Given the description of an element on the screen output the (x, y) to click on. 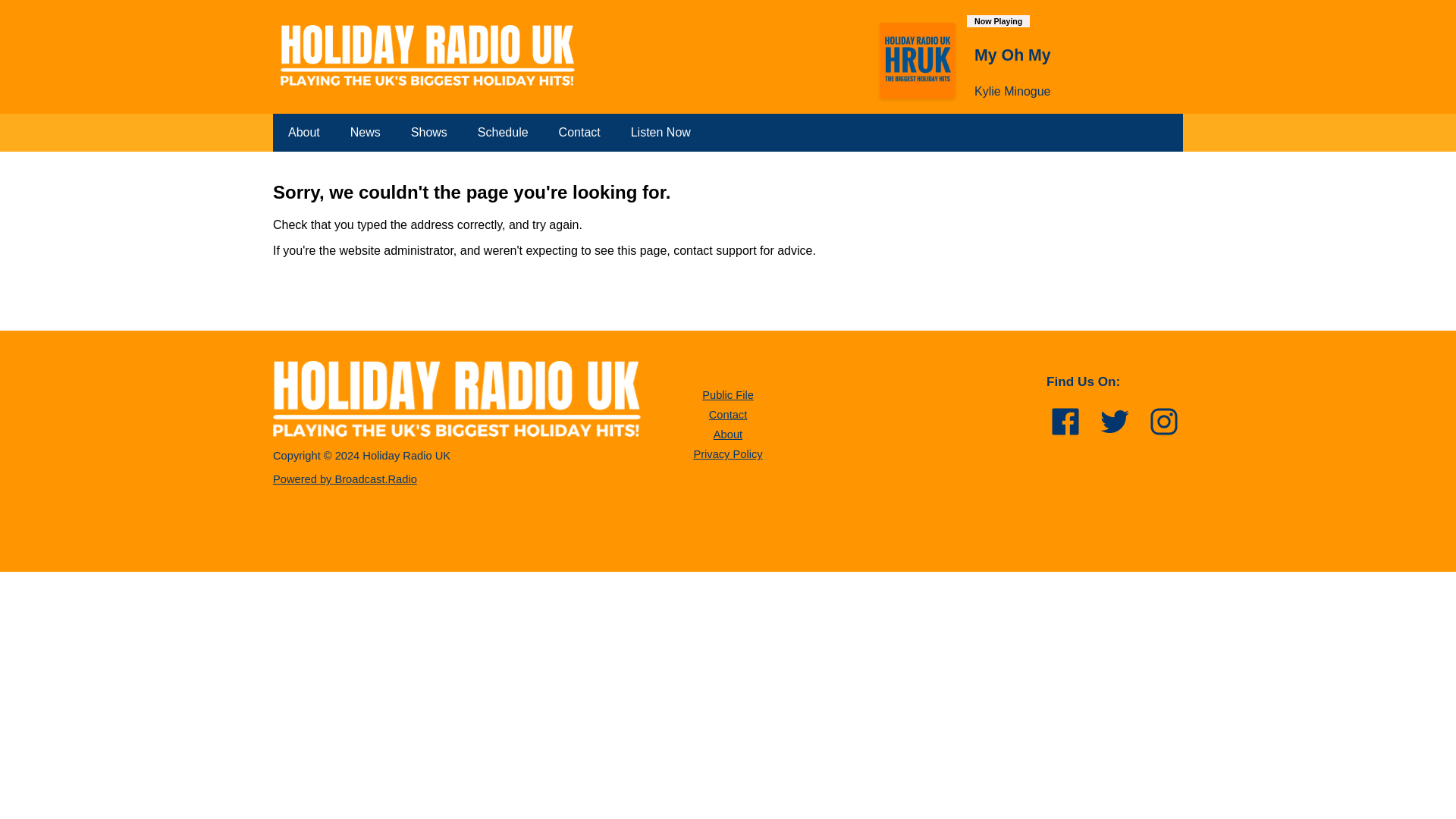
Powered by Broadcast.Radio (344, 479)
About (727, 434)
Schedule (503, 132)
Shows (429, 132)
News (365, 132)
Contact (579, 132)
News (365, 132)
About (303, 132)
Privacy Policy (727, 453)
Shows (429, 132)
